Given the description of an element on the screen output the (x, y) to click on. 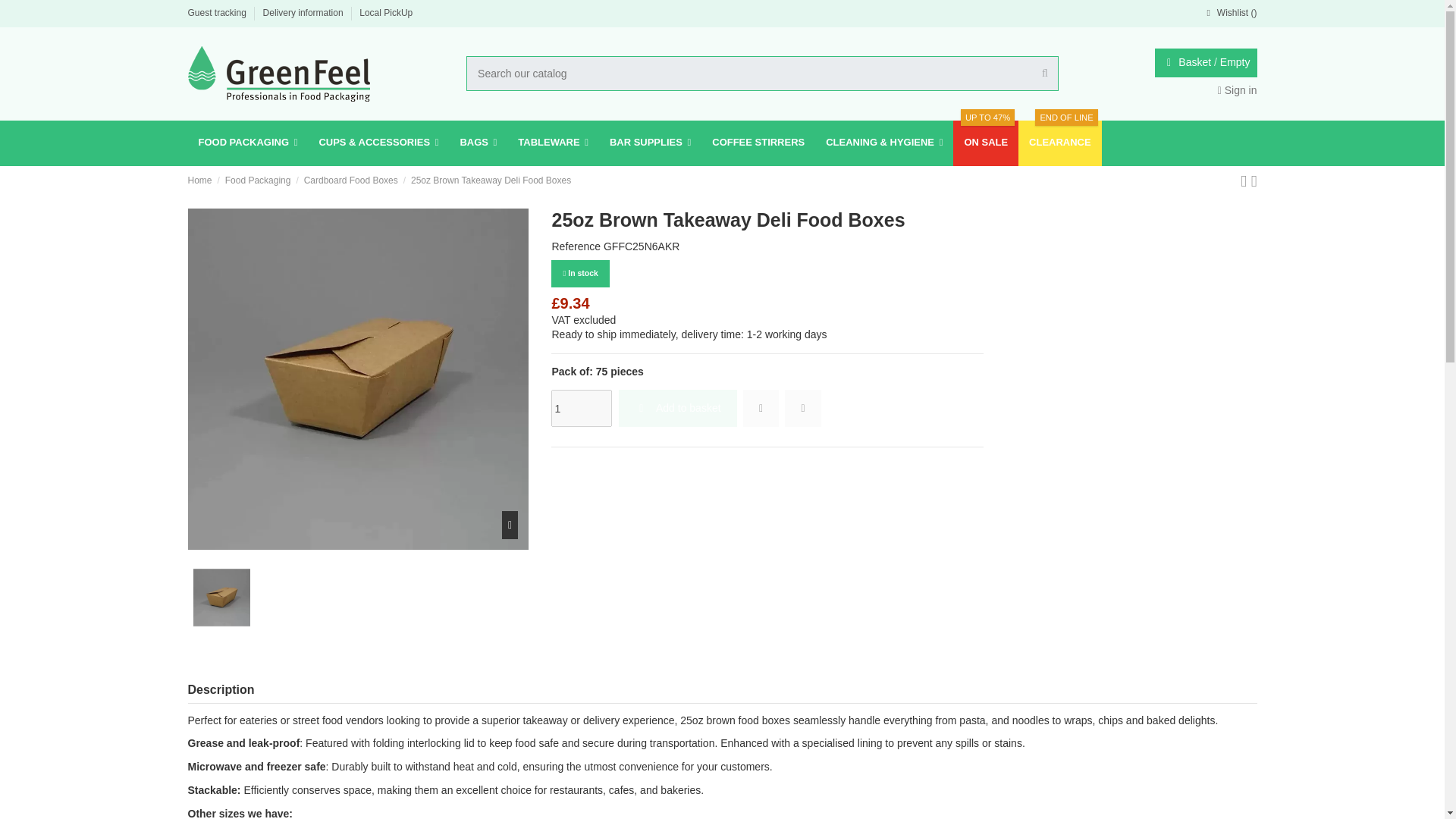
1 (581, 407)
Guest tracking (217, 12)
Local PickUp (385, 12)
Log in to your customer account (1237, 90)
Delivery information (304, 12)
FOOD PACKAGING (247, 143)
Our terms and conditions of delivery (304, 12)
Add to compare (802, 407)
Add to wishlist (760, 407)
Sign in (1237, 90)
